Given the description of an element on the screen output the (x, y) to click on. 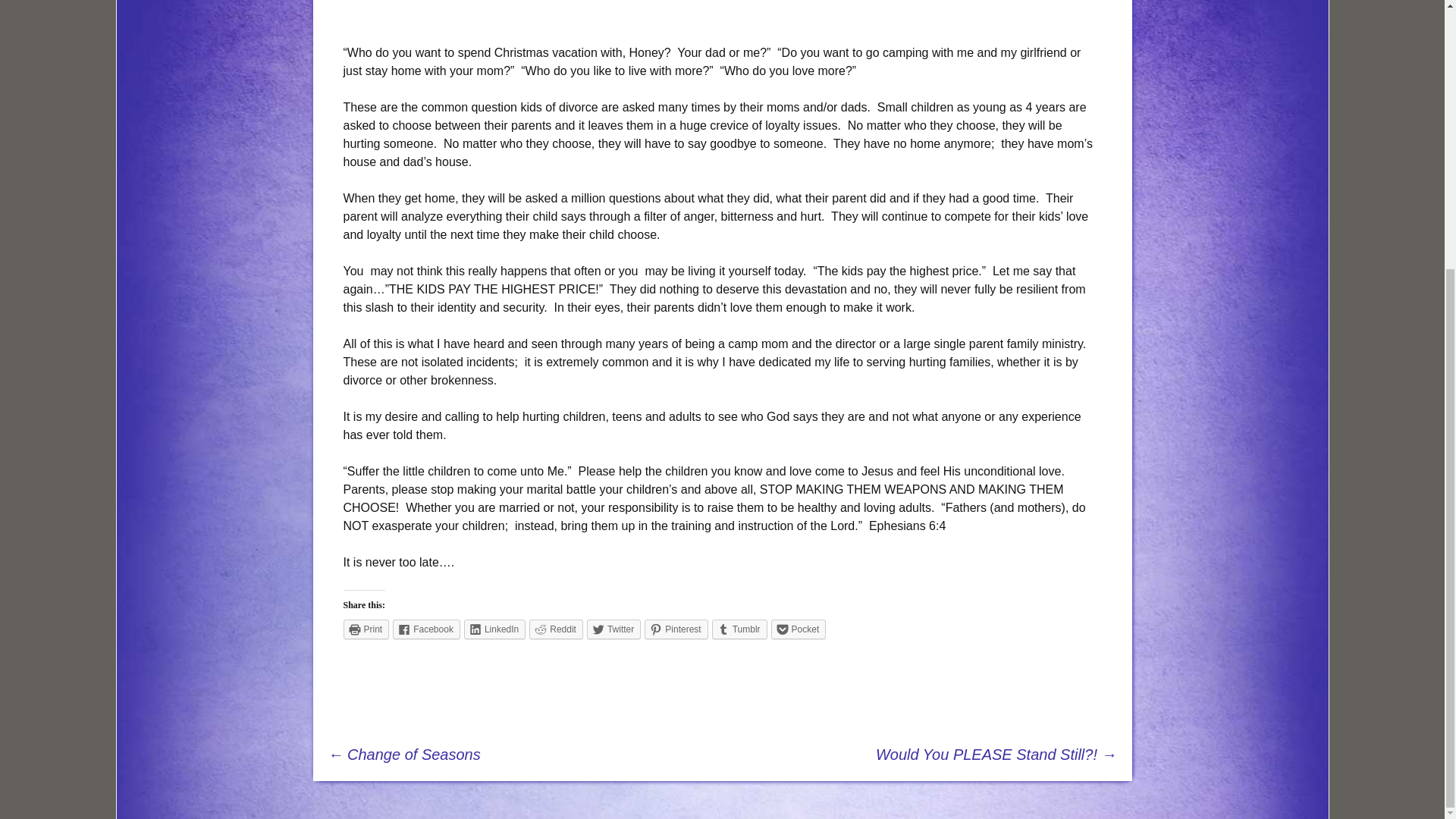
Pinterest (676, 629)
Twitter (613, 629)
Click to share on Tumblr (739, 629)
Print (365, 629)
LinkedIn (494, 629)
Reddit (556, 629)
Click to share on Pocket (799, 629)
Click to share on Pinterest (676, 629)
Click to share on LinkedIn (494, 629)
Click to share on Twitter (613, 629)
Click to share on Facebook (426, 629)
Tumblr (739, 629)
Pocket (799, 629)
Click to share on Reddit (556, 629)
Click to print (365, 629)
